Given the description of an element on the screen output the (x, y) to click on. 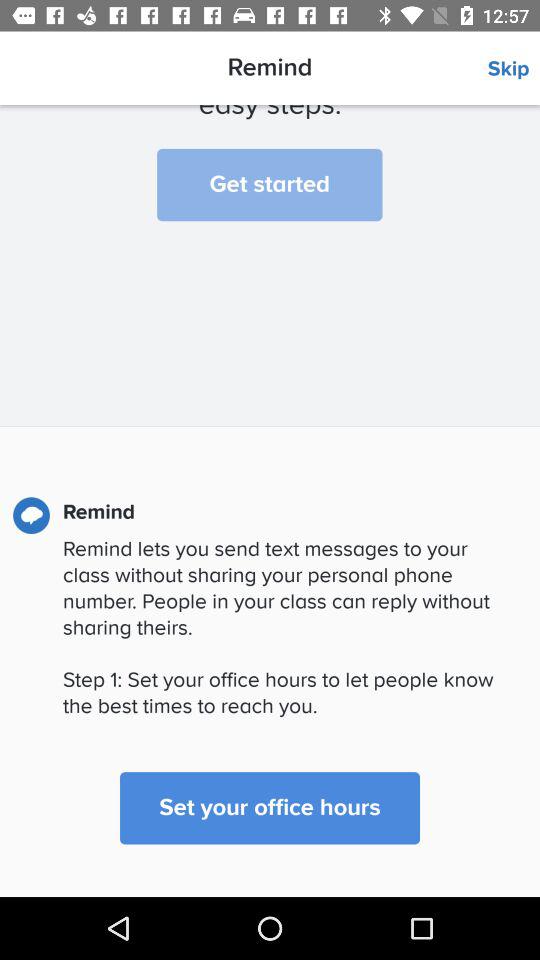
select the skip icon (513, 69)
